Given the description of an element on the screen output the (x, y) to click on. 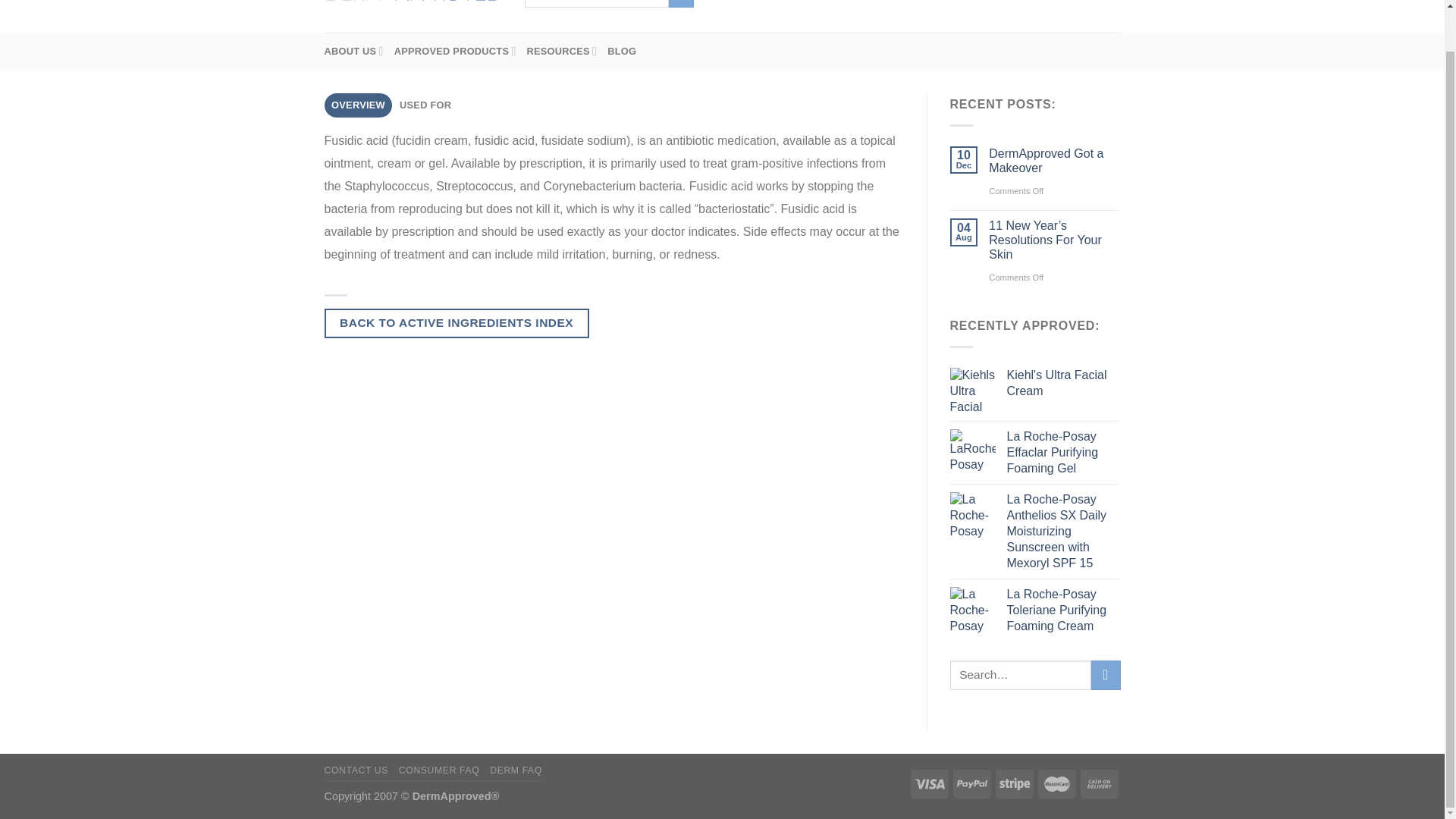
DermApproved Got a Makeover (1053, 160)
RESOURCES (561, 51)
ABOUT US (354, 51)
Derm Approved - Skin Care Derm Approved (413, 3)
APPROVED PRODUCTS (455, 51)
Search (681, 3)
USED FOR (424, 105)
BLOG (621, 51)
OVERVIEW (358, 105)
